Given the description of an element on the screen output the (x, y) to click on. 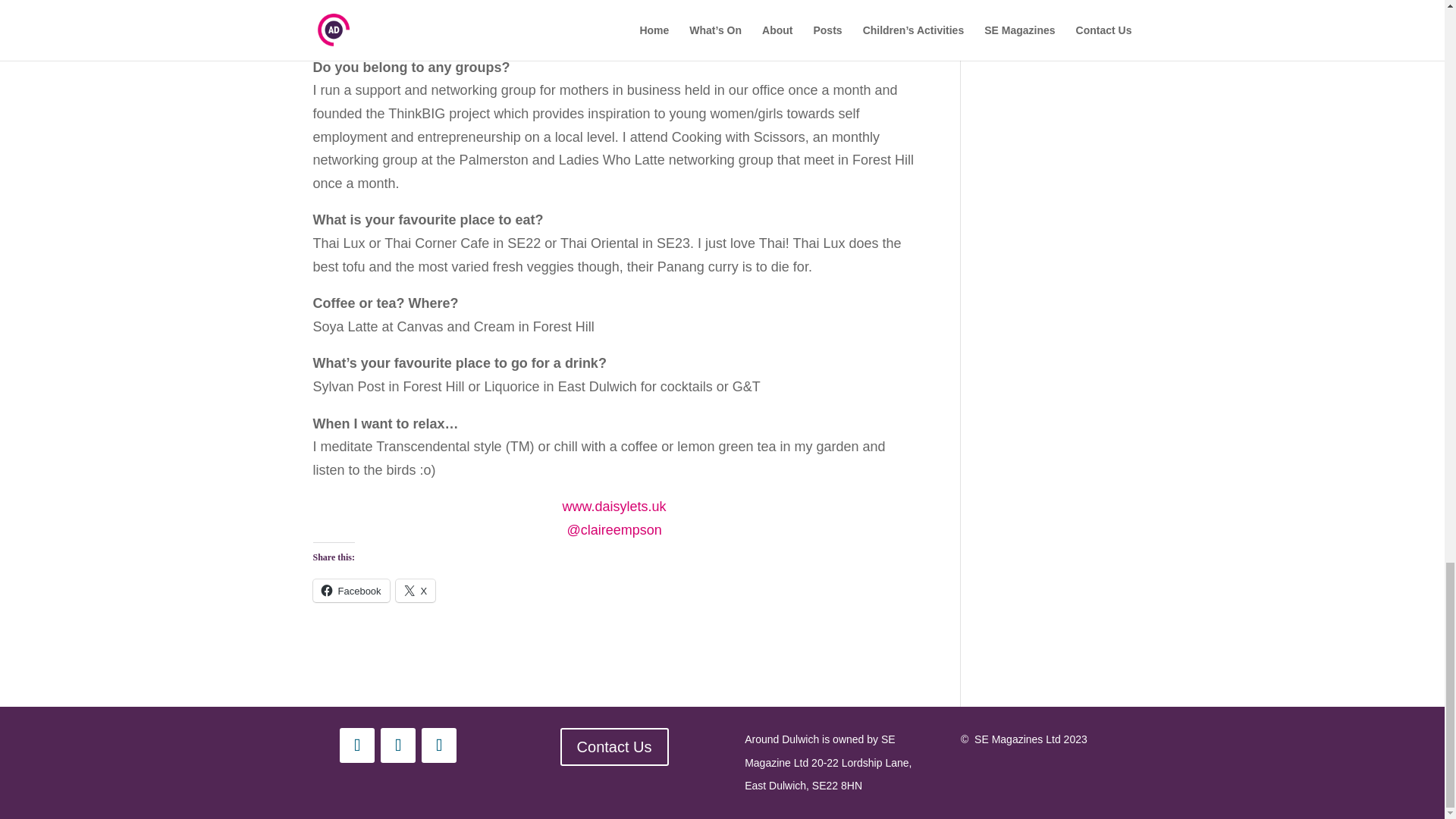
Click to share on X (415, 590)
Follow on Instagram (356, 745)
Facebook (350, 590)
Follow on Facebook (397, 745)
X (415, 590)
Follow on X (439, 745)
Click to share on Facebook (350, 590)
Contact Us (614, 746)
www.daisylets.uk (614, 506)
